Given the description of an element on the screen output the (x, y) to click on. 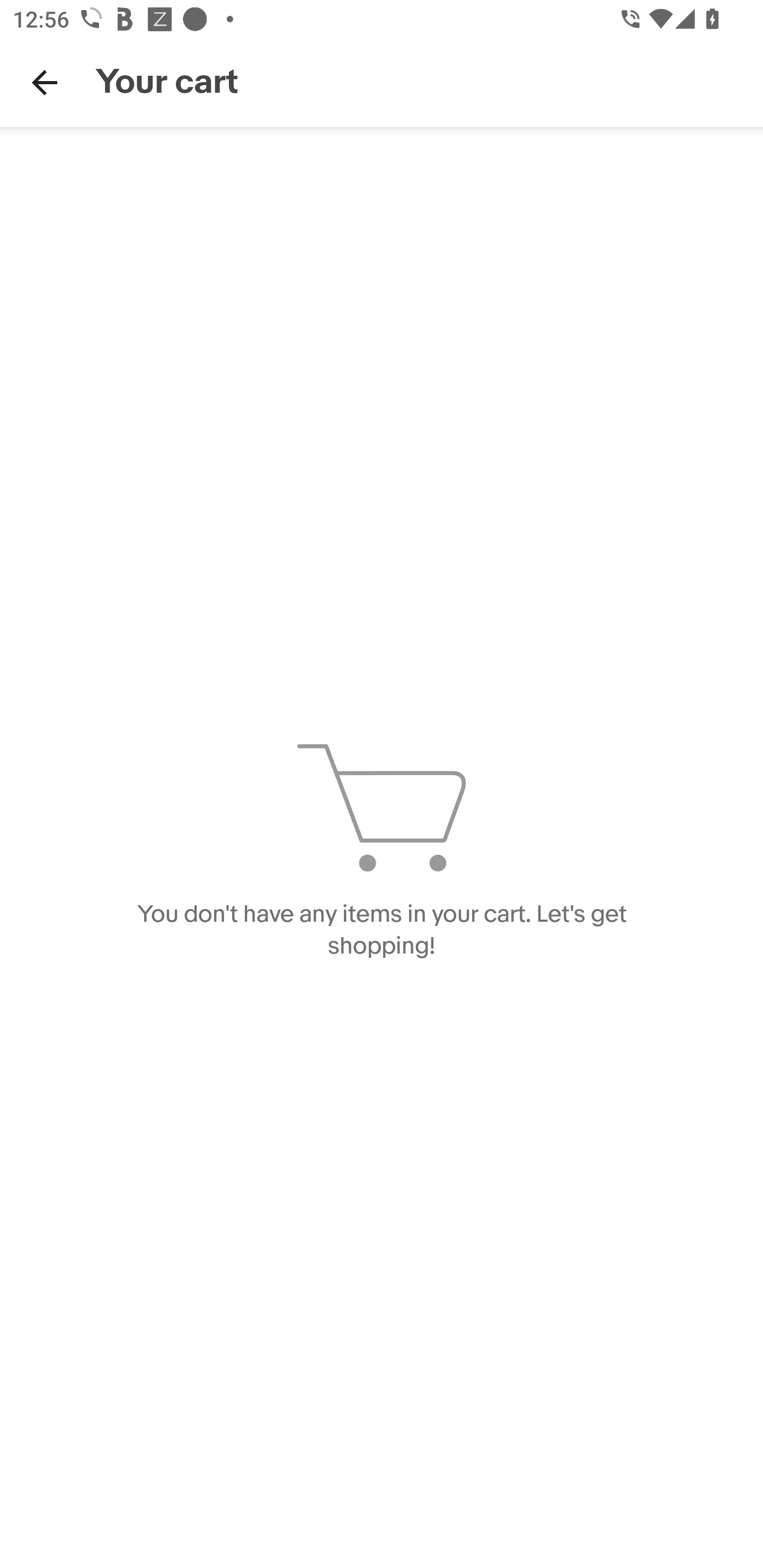
Navigate up (44, 82)
